Given the description of an element on the screen output the (x, y) to click on. 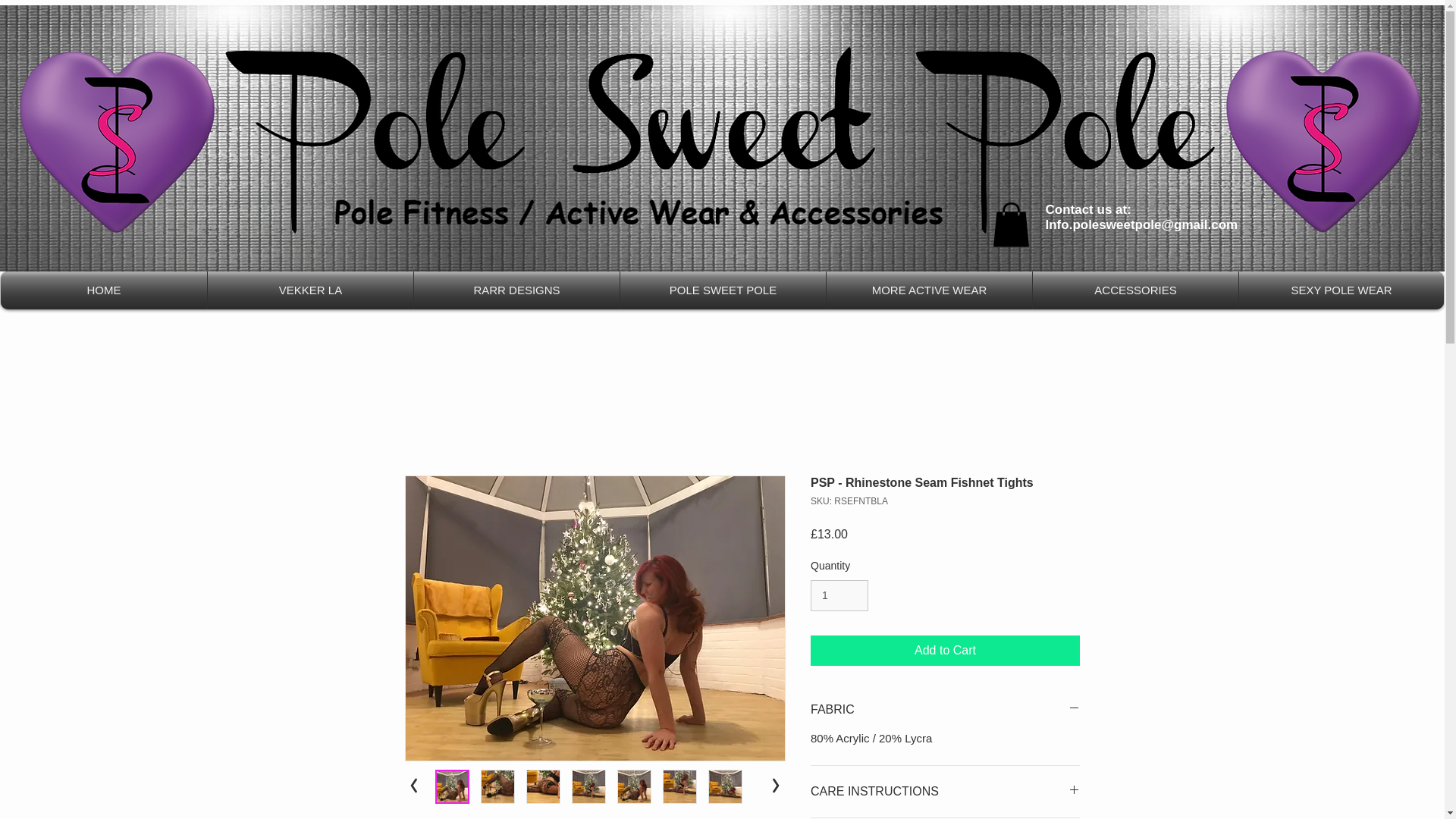
VEKKER LA (310, 290)
1 (838, 594)
HOME (103, 290)
RARR DESIGNS (516, 290)
